Given the description of an element on the screen output the (x, y) to click on. 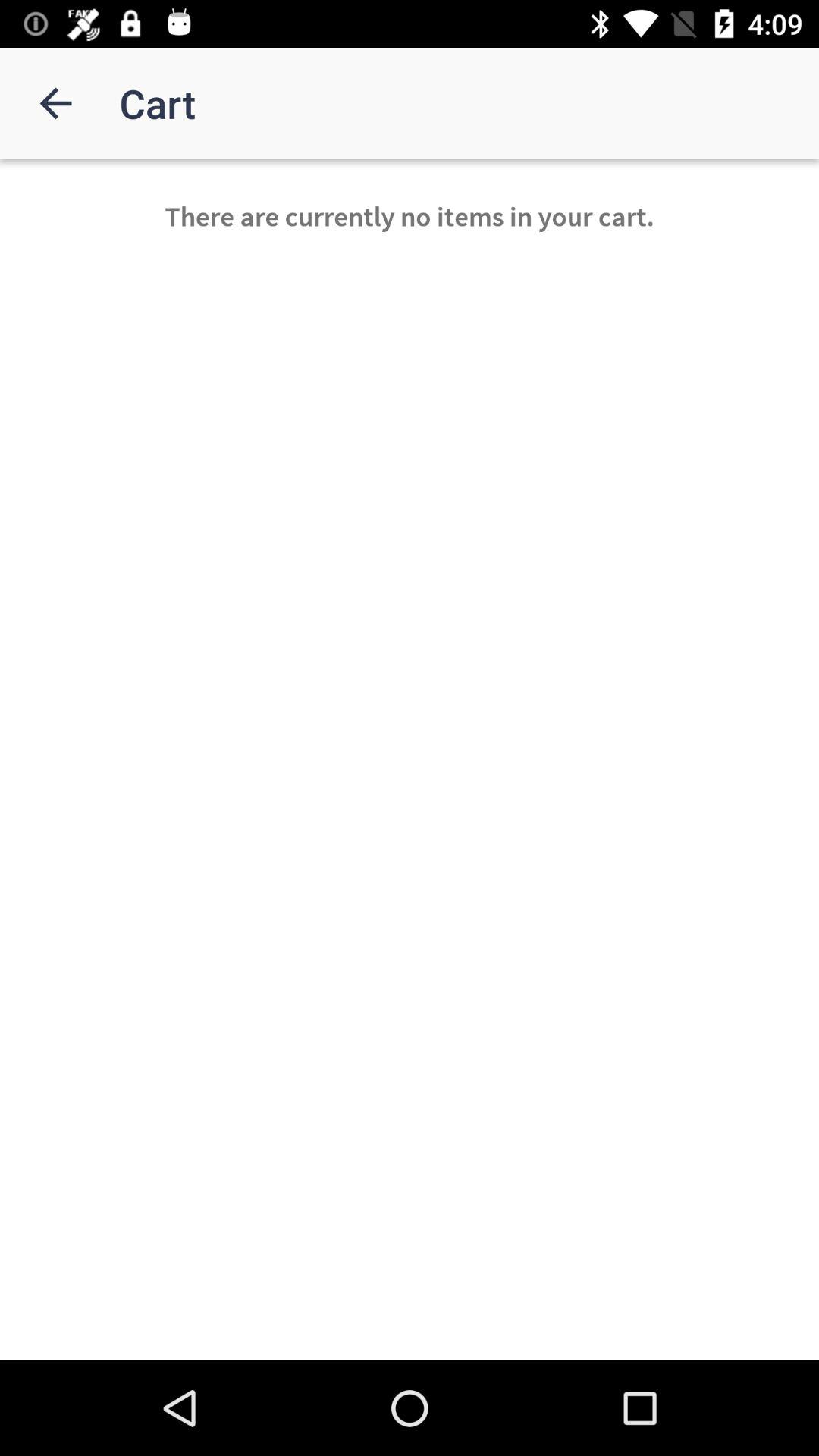
tap item next to cart (55, 103)
